Given the description of an element on the screen output the (x, y) to click on. 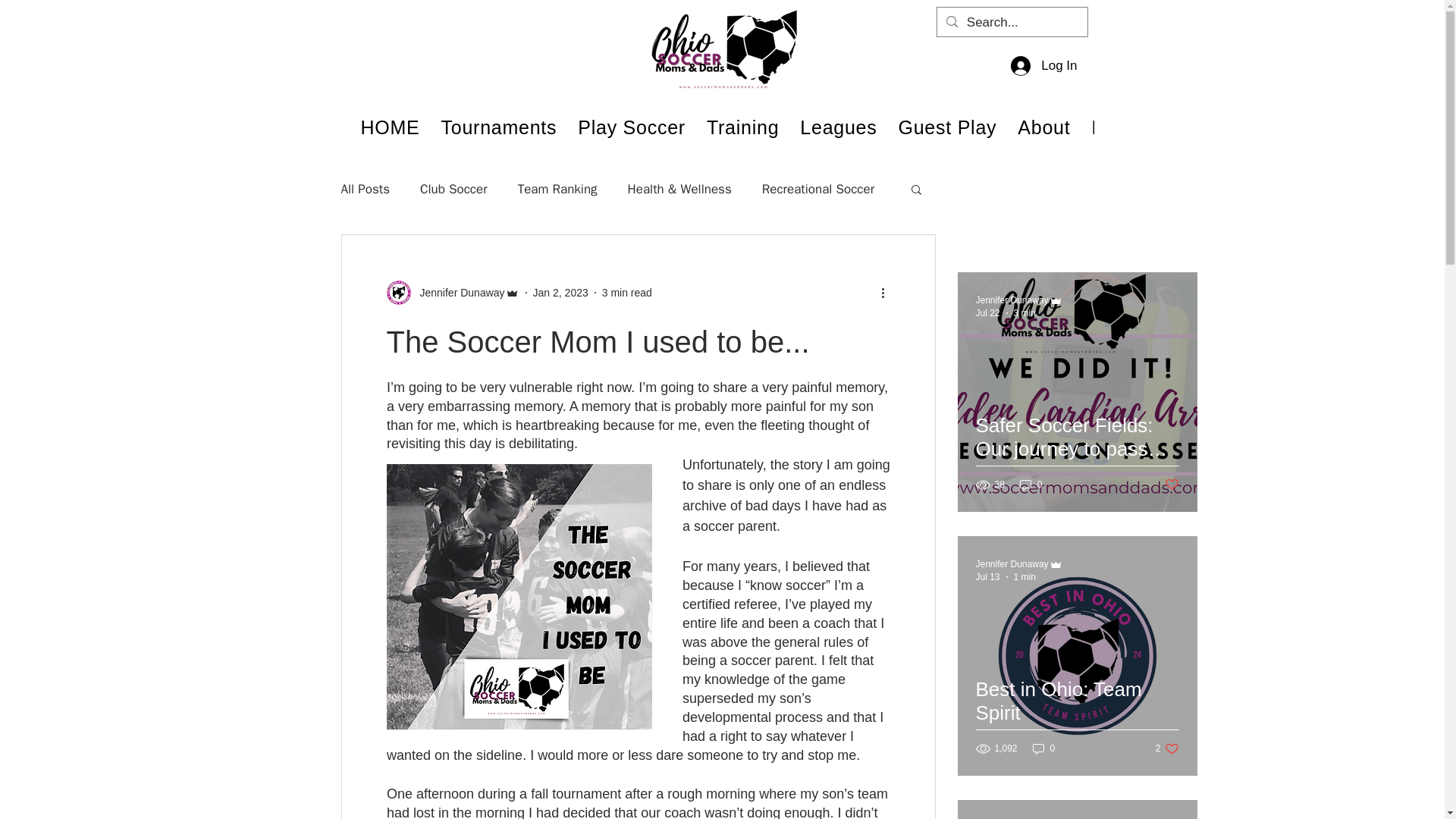
Jennifer Dunaway (1011, 563)
Jul 13 (986, 576)
Recreational Soccer (818, 189)
Log In (1043, 65)
Team Ranking (557, 189)
HOME (390, 127)
Jul 22 (986, 312)
1 min (1024, 576)
About (1043, 127)
Guest Play (947, 127)
Club Soccer (453, 189)
Jan 2, 2023 (560, 292)
3 min read (627, 292)
Jennifer Dunaway (1011, 299)
